Given the description of an element on the screen output the (x, y) to click on. 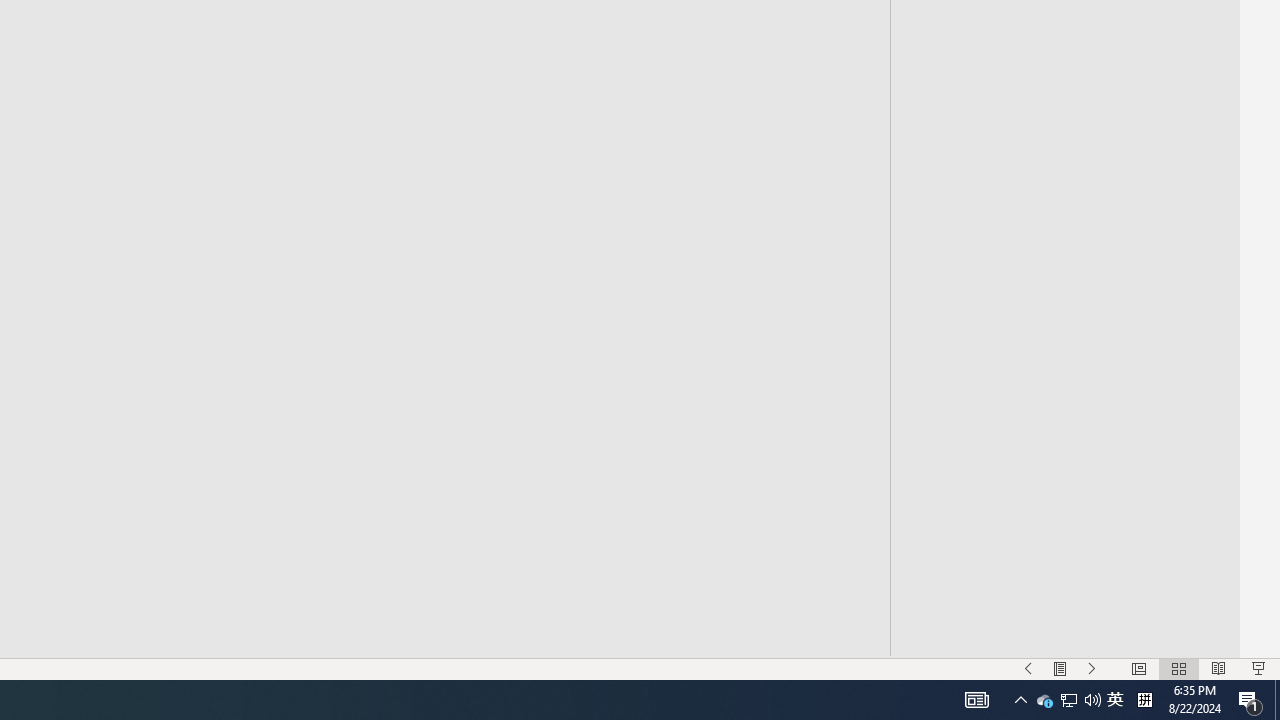
Slide Show Previous On (1028, 668)
Menu On (1060, 668)
Slide Show Next On (1092, 668)
